Given the description of an element on the screen output the (x, y) to click on. 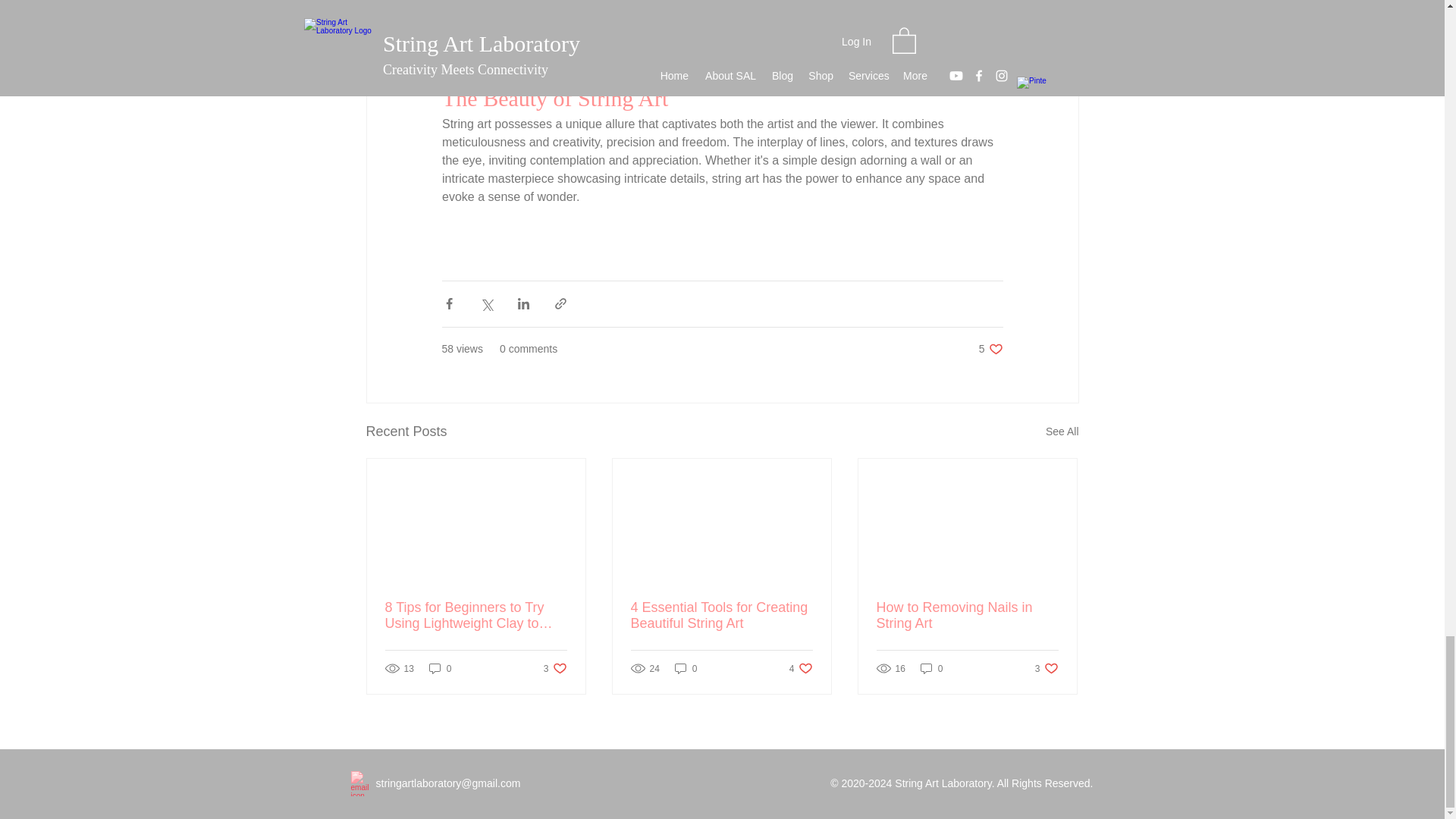
4 Essential Tools for Creating Beautiful String Art (990, 349)
See All (555, 667)
0 (721, 615)
